Given the description of an element on the screen output the (x, y) to click on. 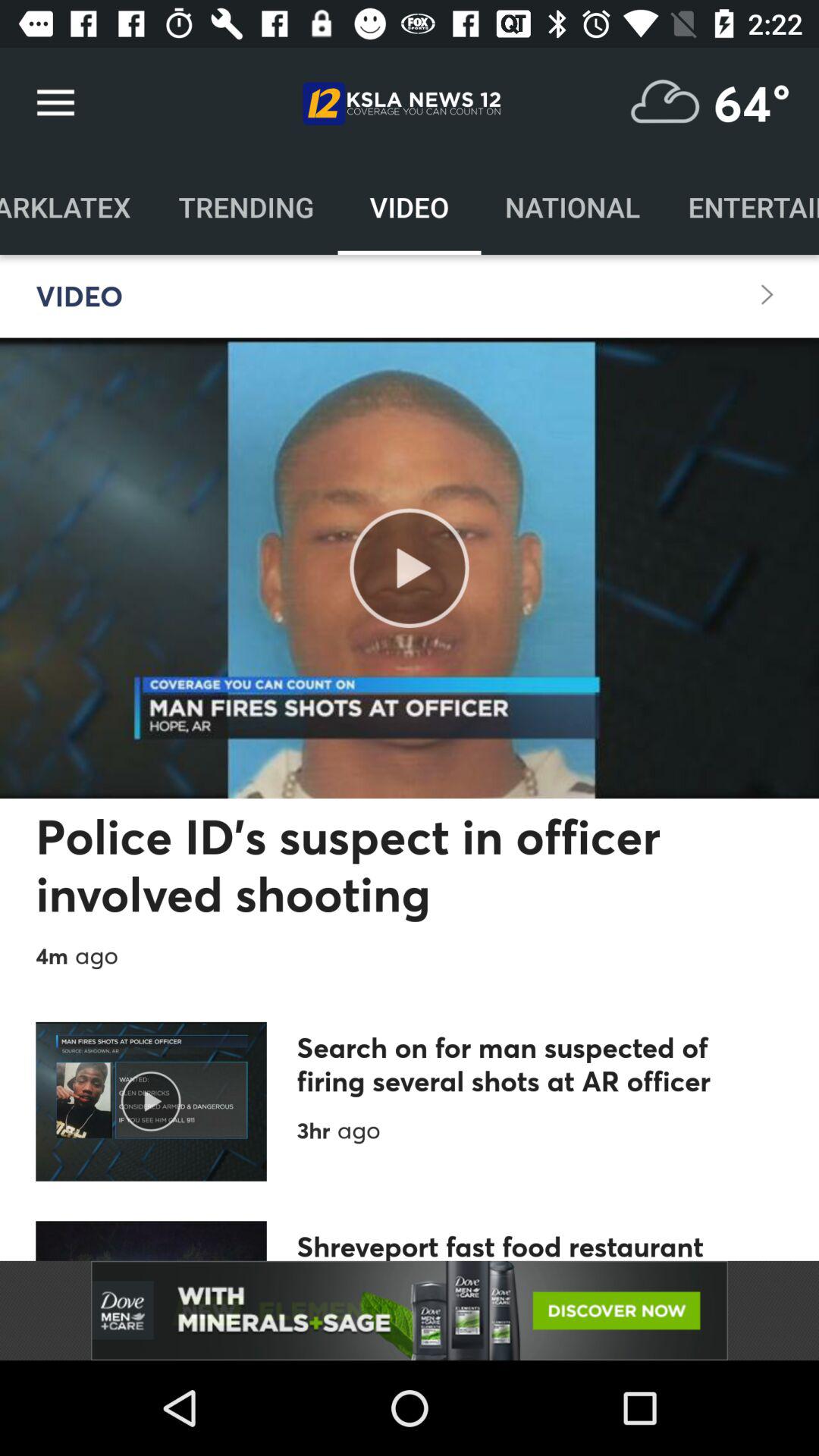
advertisement (409, 1310)
